Given the description of an element on the screen output the (x, y) to click on. 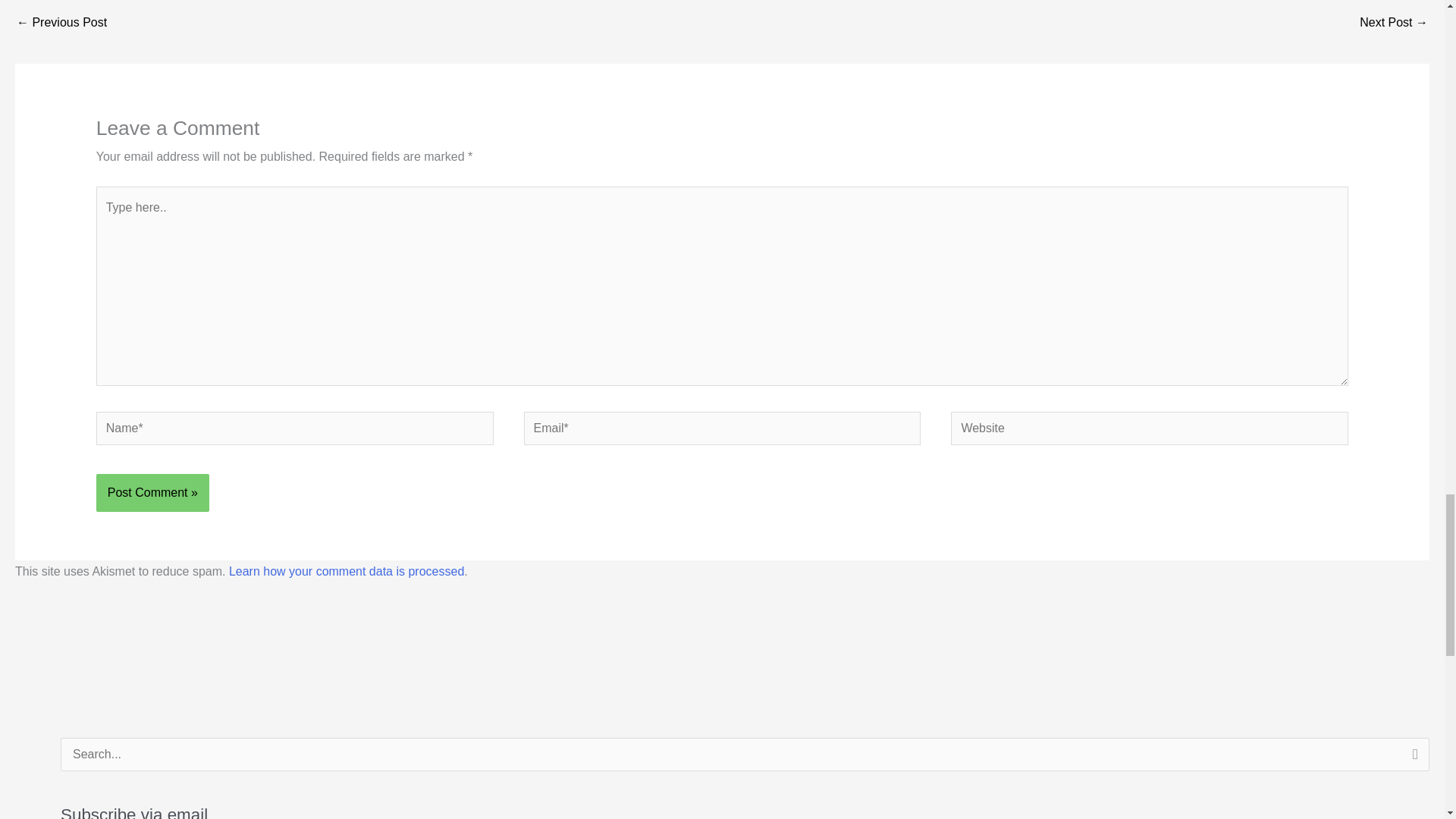
Get a FREE flight to London or Hawaii with one card! (1393, 23)
Fun things to do in Newark, Ohio (61, 23)
